Given the description of an element on the screen output the (x, y) to click on. 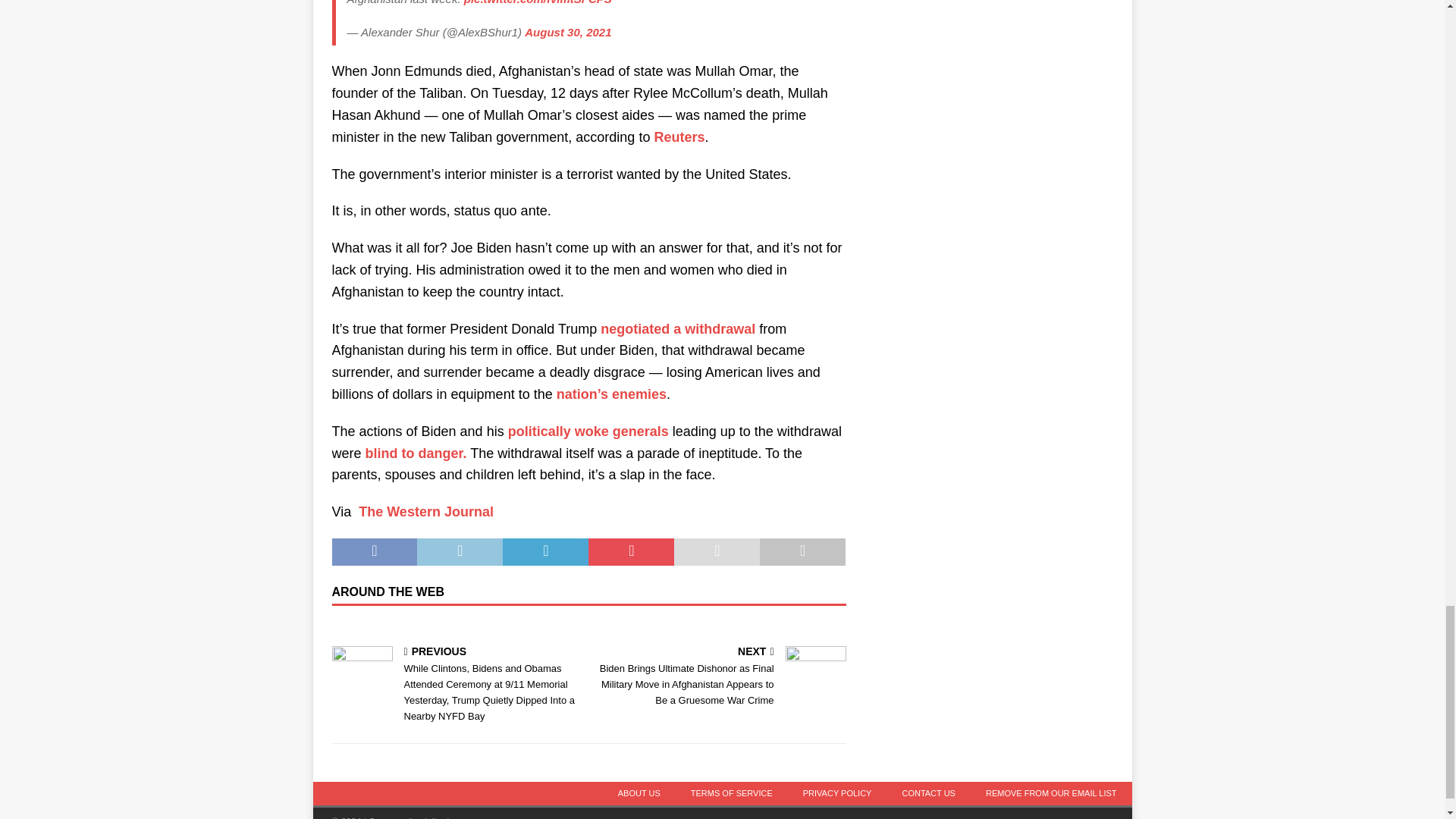
August 30, 2021 (567, 31)
negotiated a withdrawal (677, 328)
politically woke generals (588, 431)
Reuters (678, 136)
